Given the description of an element on the screen output the (x, y) to click on. 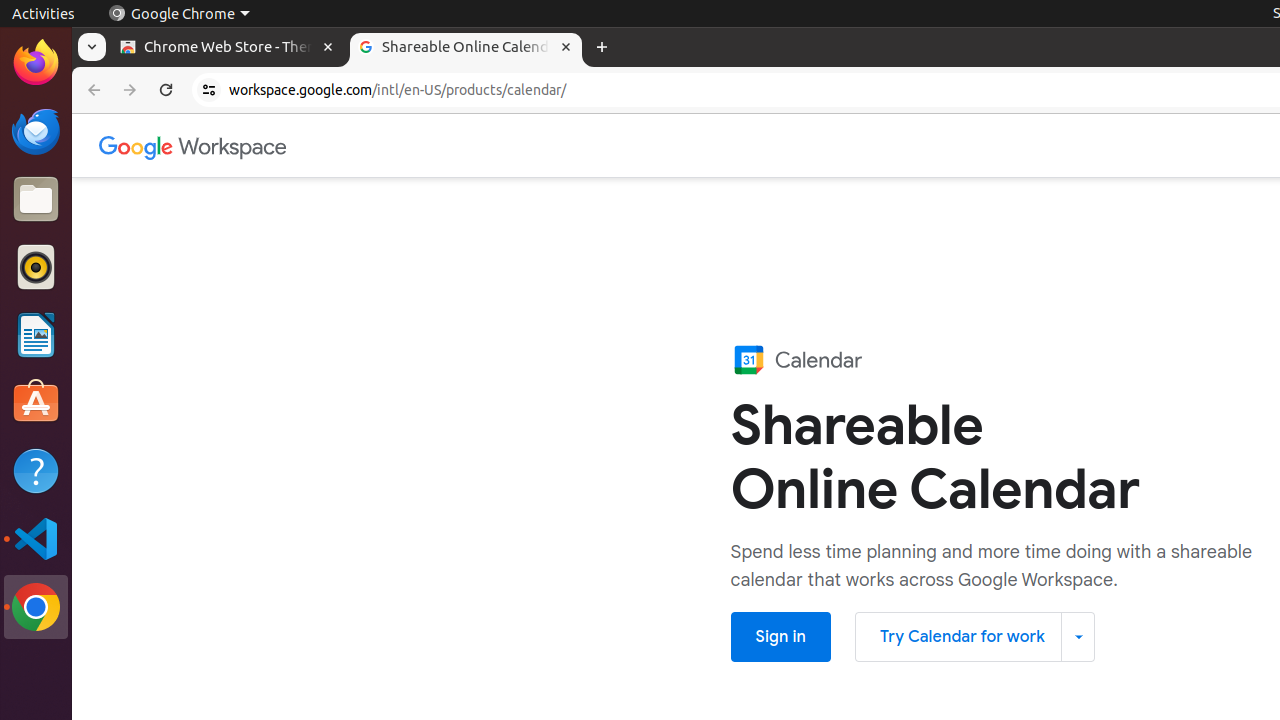
Forward Element type: push-button (130, 90)
Try Calendar for work Element type: toggle-button (975, 637)
Ubuntu Software Element type: push-button (36, 402)
Shareable Online Calendar and Scheduling - Google Calendar Element type: page-tab (466, 47)
Visual Studio Code Element type: push-button (36, 538)
